Given the description of an element on the screen output the (x, y) to click on. 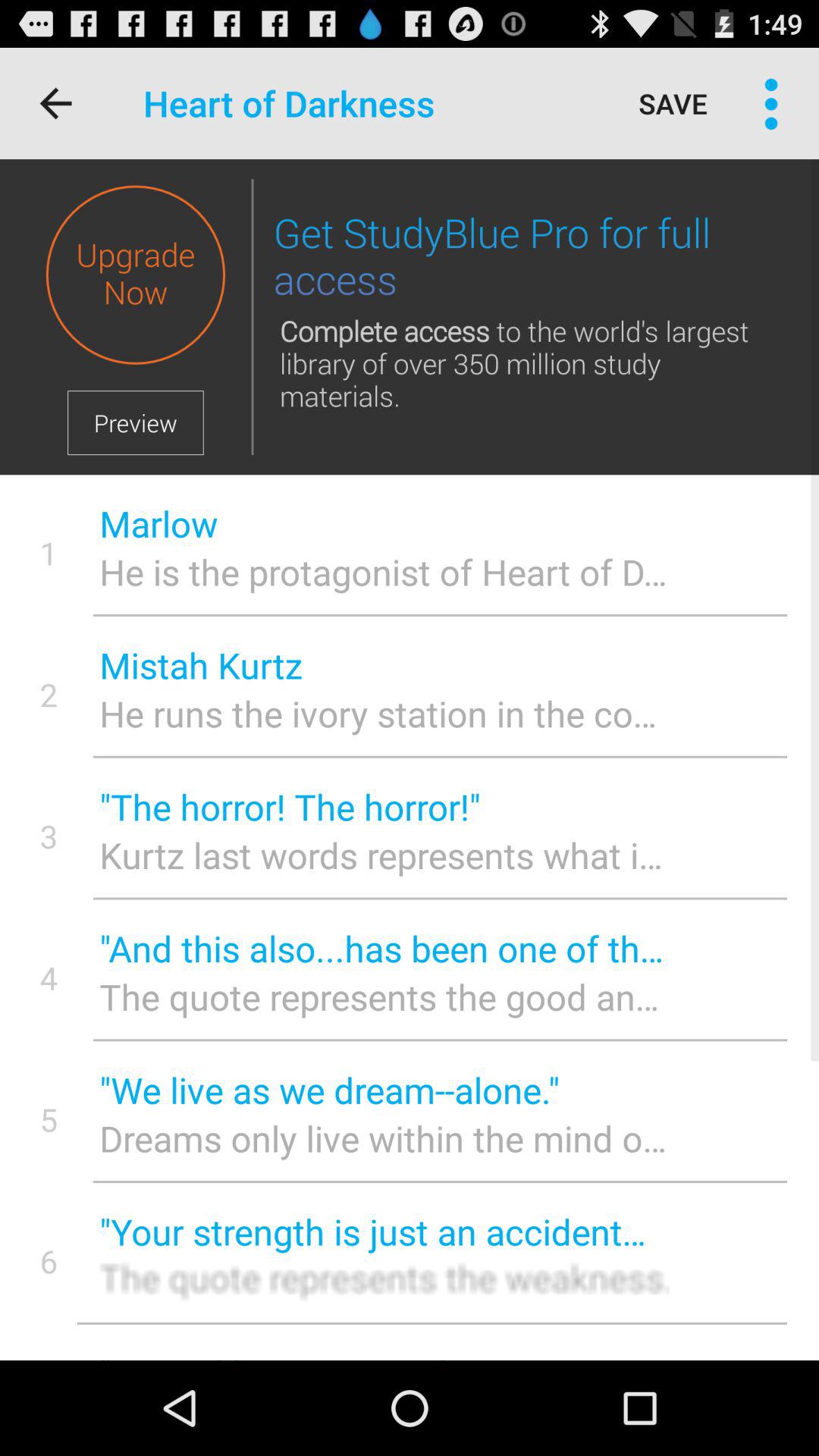
choose the 6 icon (48, 1260)
